Given the description of an element on the screen output the (x, y) to click on. 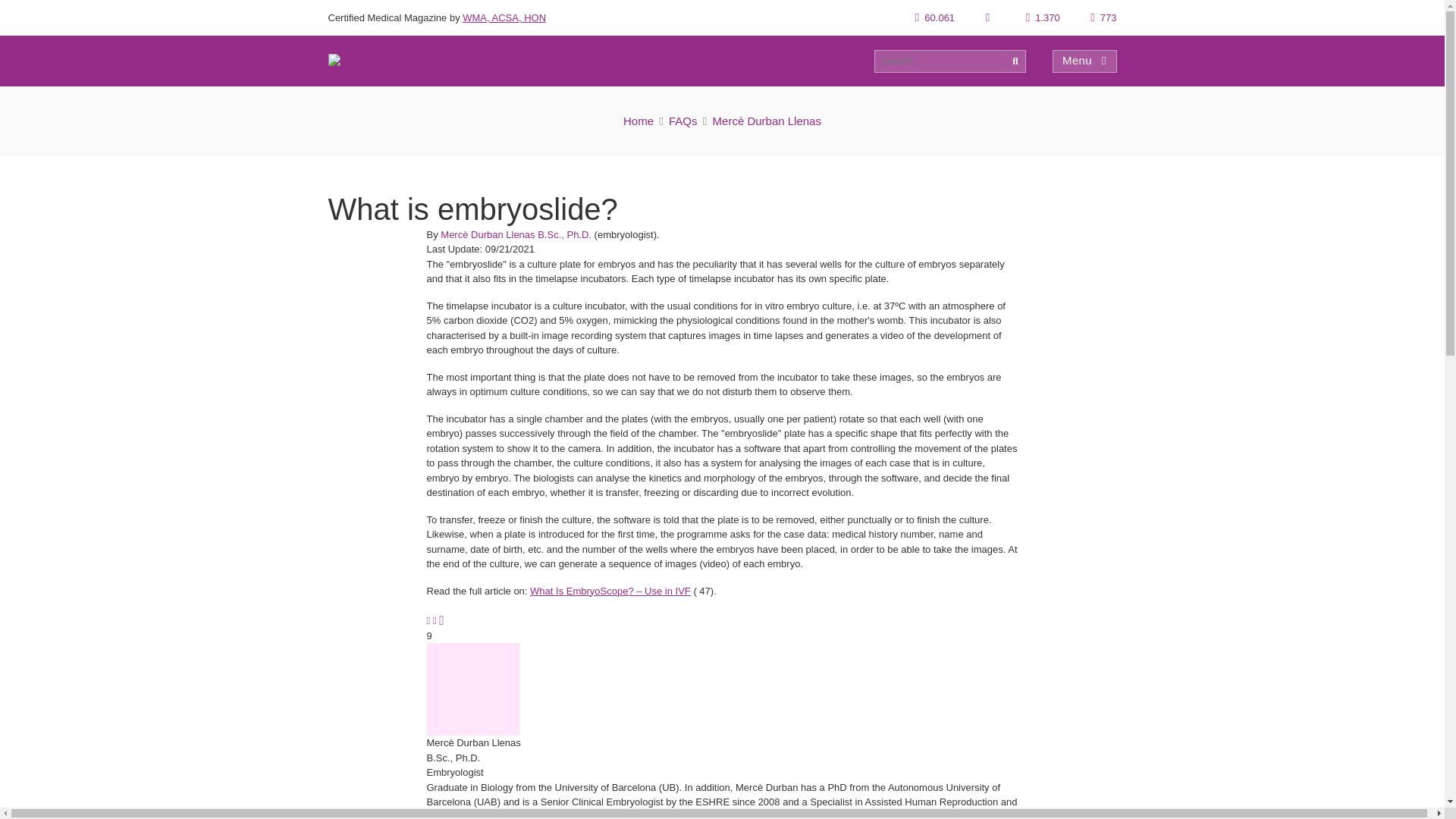
1.370 Subscribed on Youtube (1042, 17)
773 Followers on Instagram (1103, 17)
Menu (1084, 60)
60.061 Fans on Facebook (935, 17)
1.370 (1042, 17)
inviTRA (350, 60)
Menu (1084, 60)
WMA, ACSA, HON (504, 17)
773 (1103, 17)
60.061 (935, 17)
